Given the description of an element on the screen output the (x, y) to click on. 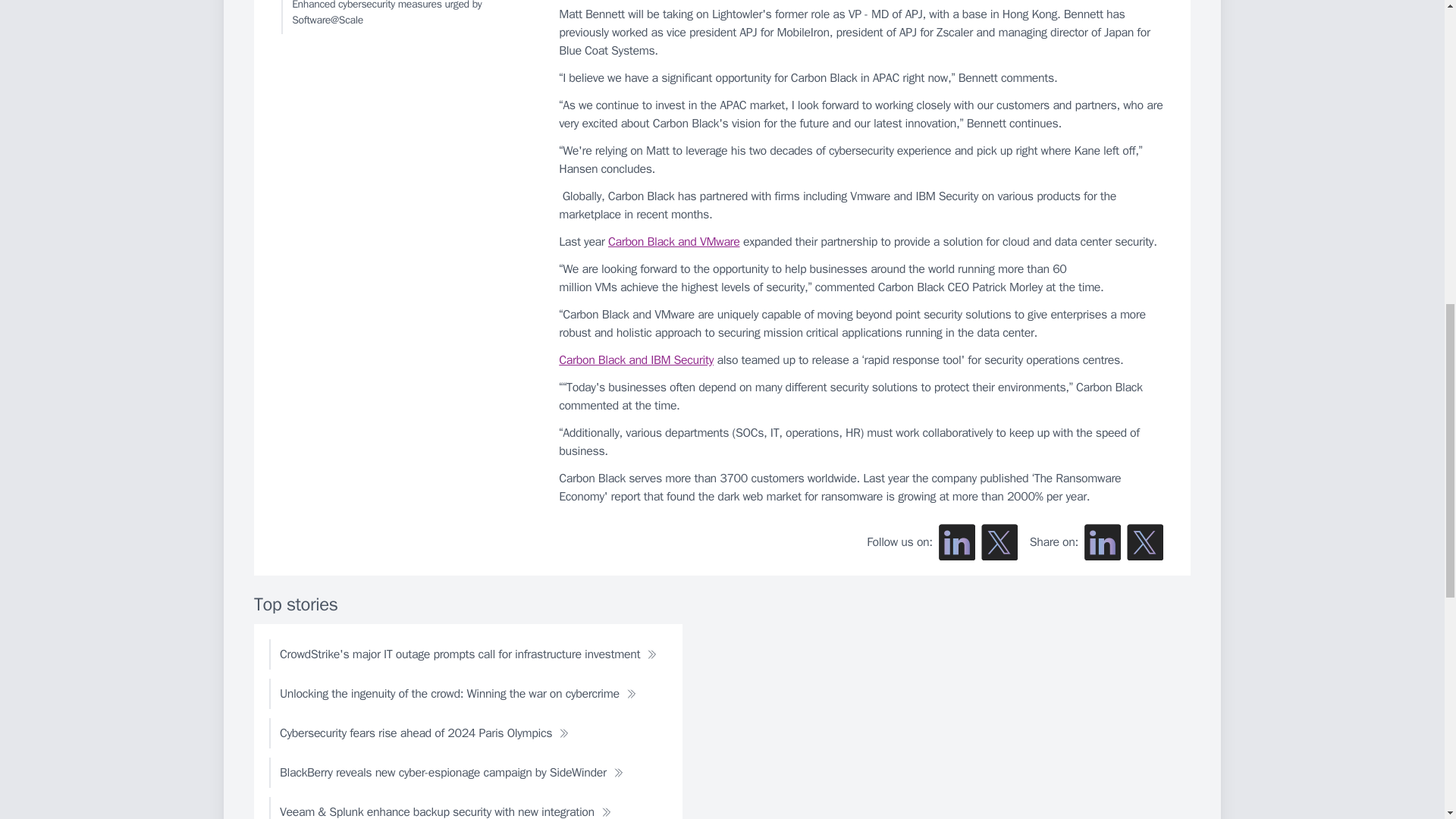
Cybersecurity fears rise ahead of 2024 Paris Olympics (424, 733)
Carbon Black and VMware (673, 241)
Carbon Black and IBM Security (636, 359)
